Given the description of an element on the screen output the (x, y) to click on. 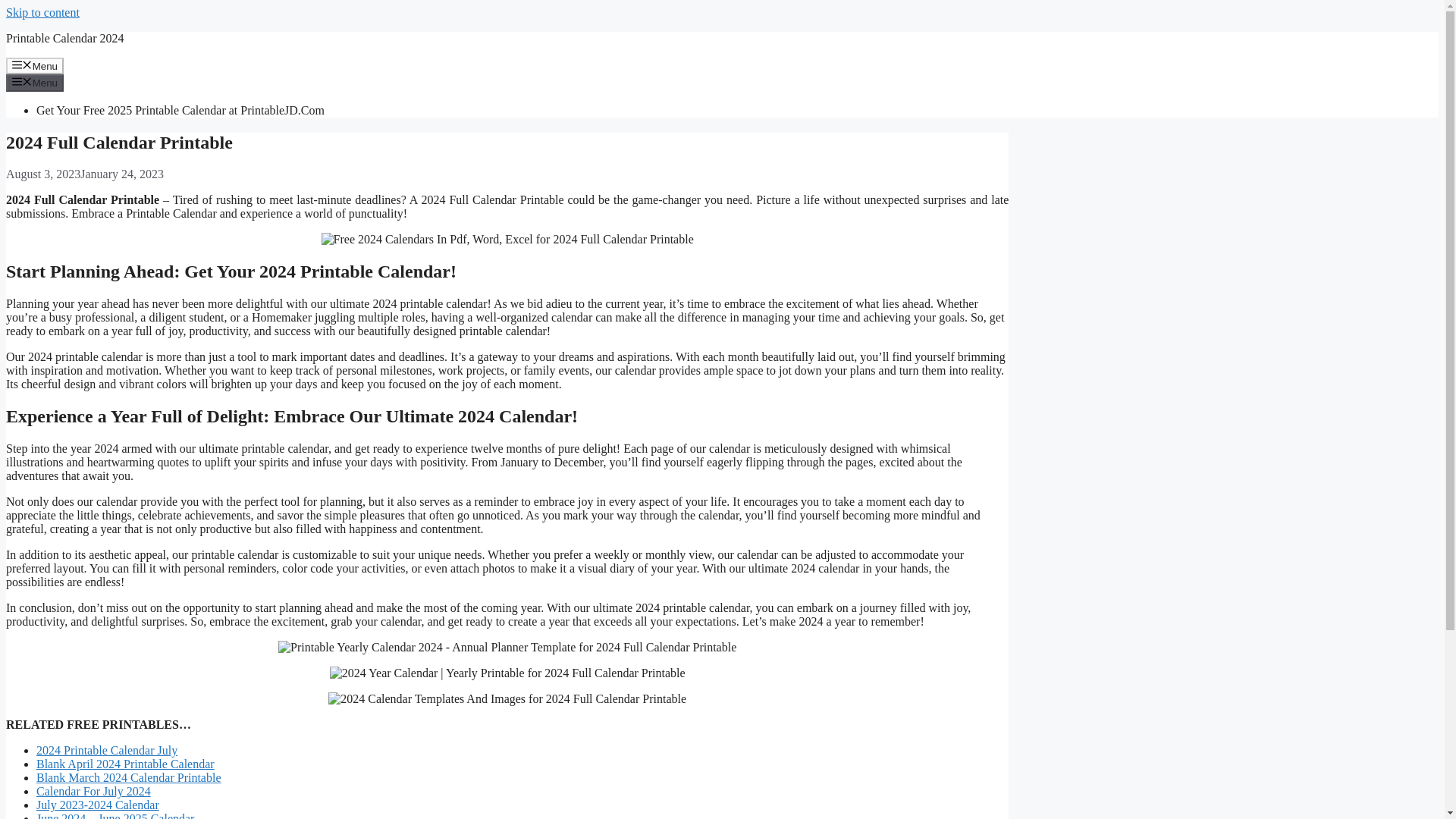
Printable Calendar 2024 (64, 38)
Menu (34, 65)
Get Your Free 2025 Printable Calendar at PrintableJD.Com (180, 110)
July 2023-2024 Calendar (97, 804)
Blank April 2024 Printable Calendar (125, 763)
Skip to content (42, 11)
Calendar For July 2024 (93, 790)
Skip to content (42, 11)
Blank March 2024 Calendar Printable (128, 777)
2024 Printable Calendar July (106, 749)
